Given the description of an element on the screen output the (x, y) to click on. 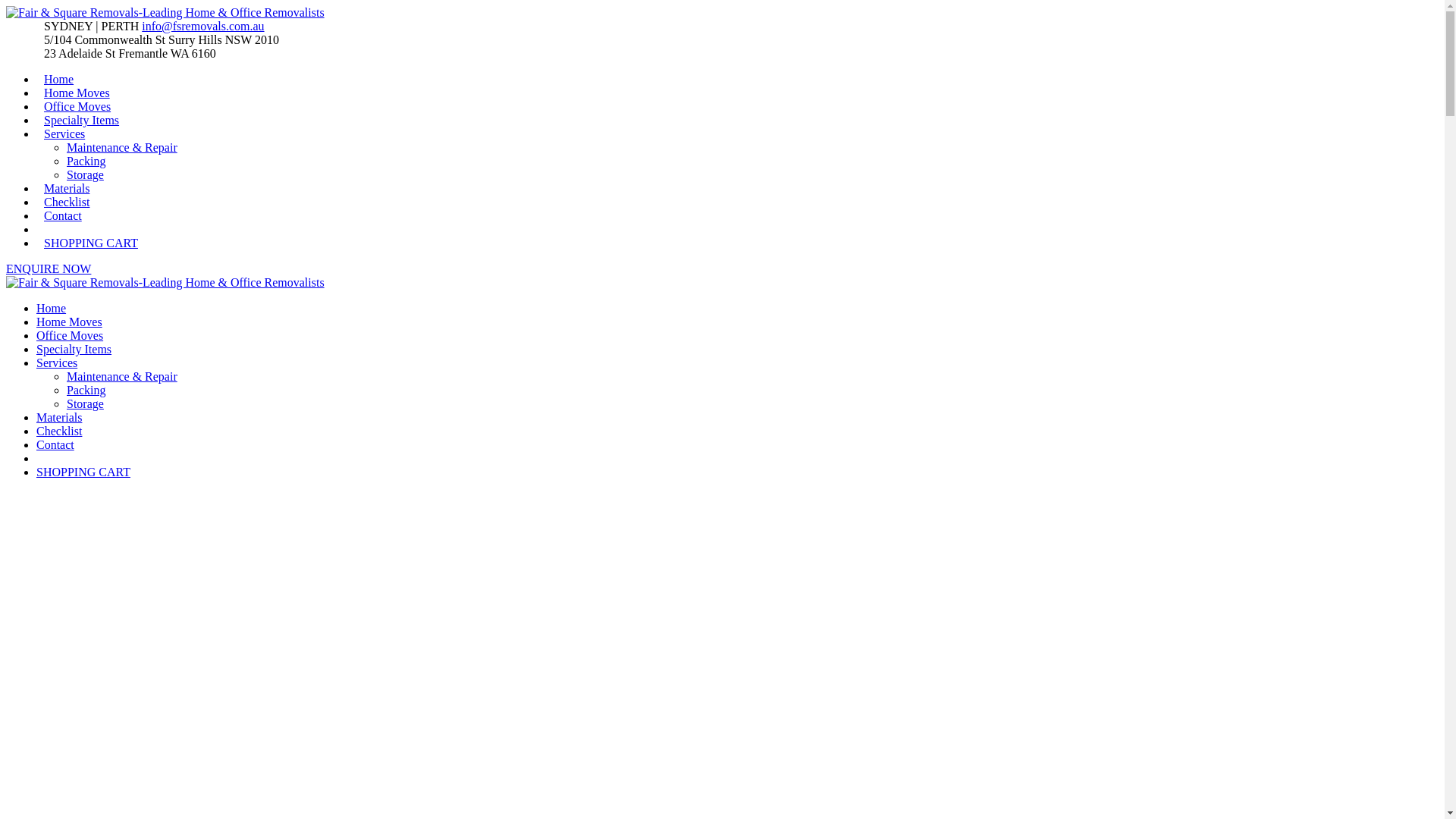
Services Element type: text (64, 133)
Fair & Square Removals-Leading Home & Office Removalists Element type: hover (165, 282)
Checklist Element type: text (66, 201)
Office Moves Element type: text (69, 335)
info@fsremovals.com.au Element type: text (202, 25)
Specialty Items Element type: text (73, 348)
Packing Element type: text (86, 160)
Maintenance & Repair Element type: text (121, 376)
Specialty Items Element type: text (81, 119)
Contact Element type: text (55, 444)
SHOPPING CART Element type: text (83, 471)
Materials Element type: text (58, 417)
ENQUIRE NOW Element type: text (48, 268)
Home Moves Element type: text (69, 321)
Home Moves Element type: text (76, 92)
My Basket Element type: hover (43, 228)
Office Moves Element type: text (77, 106)
Storage Element type: text (84, 174)
Home Element type: text (58, 78)
Packing Element type: text (86, 389)
Maintenance & Repair Element type: text (121, 147)
SHOPPING CART Element type: text (90, 242)
Checklist Element type: text (58, 430)
Contact Element type: text (62, 215)
Fair & Square Removals-Leading Home & Office Removalists Element type: hover (165, 12)
Services Element type: text (56, 362)
Storage Element type: text (84, 403)
Materials Element type: text (66, 188)
Home Element type: text (50, 307)
